Given the description of an element on the screen output the (x, y) to click on. 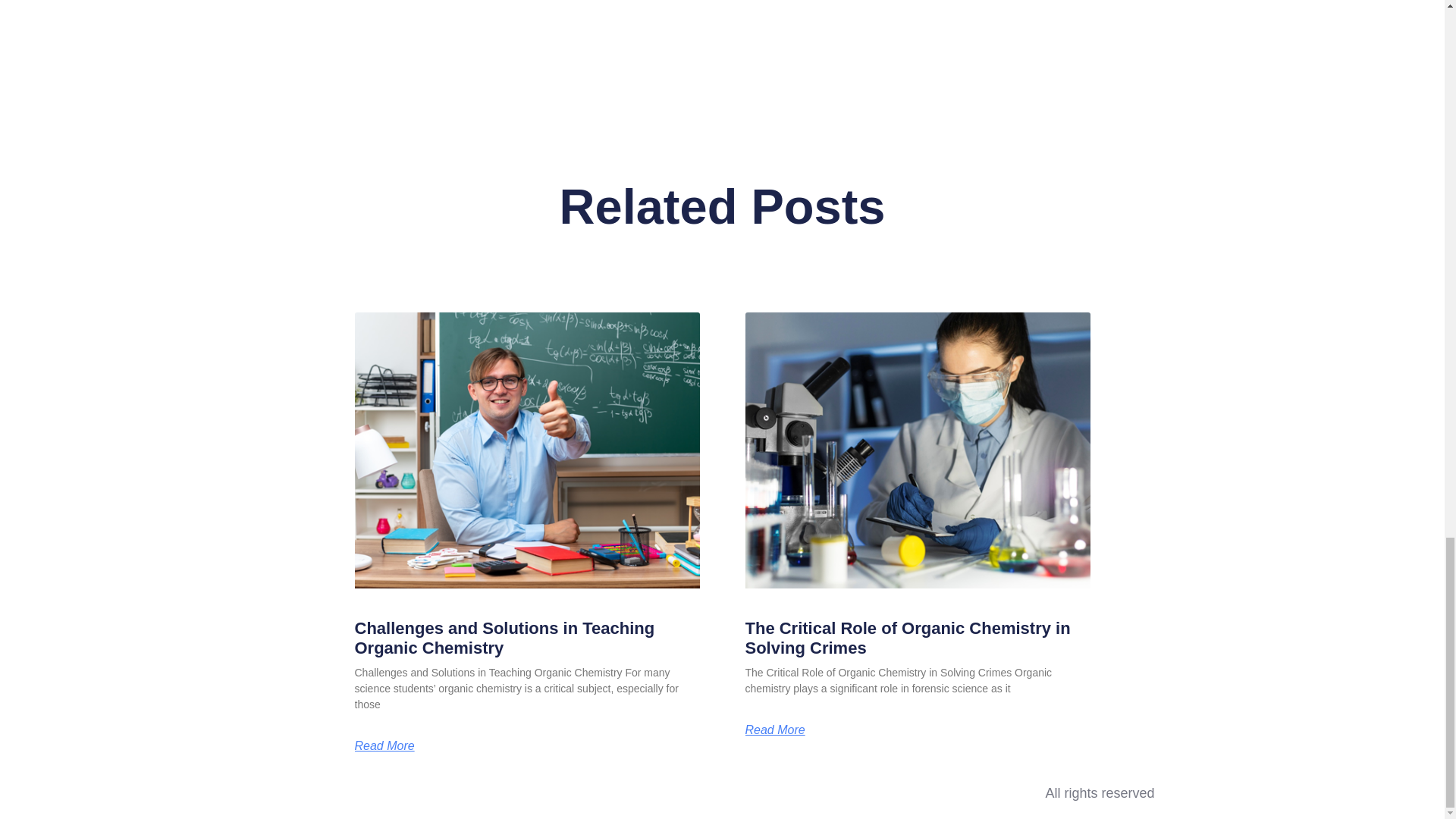
The Critical Role of Organic Chemistry in Solving Crimes (907, 638)
Challenges and Solutions in Teaching Organic Chemistry (505, 638)
Read More (774, 729)
Read More (384, 746)
